Given the description of an element on the screen output the (x, y) to click on. 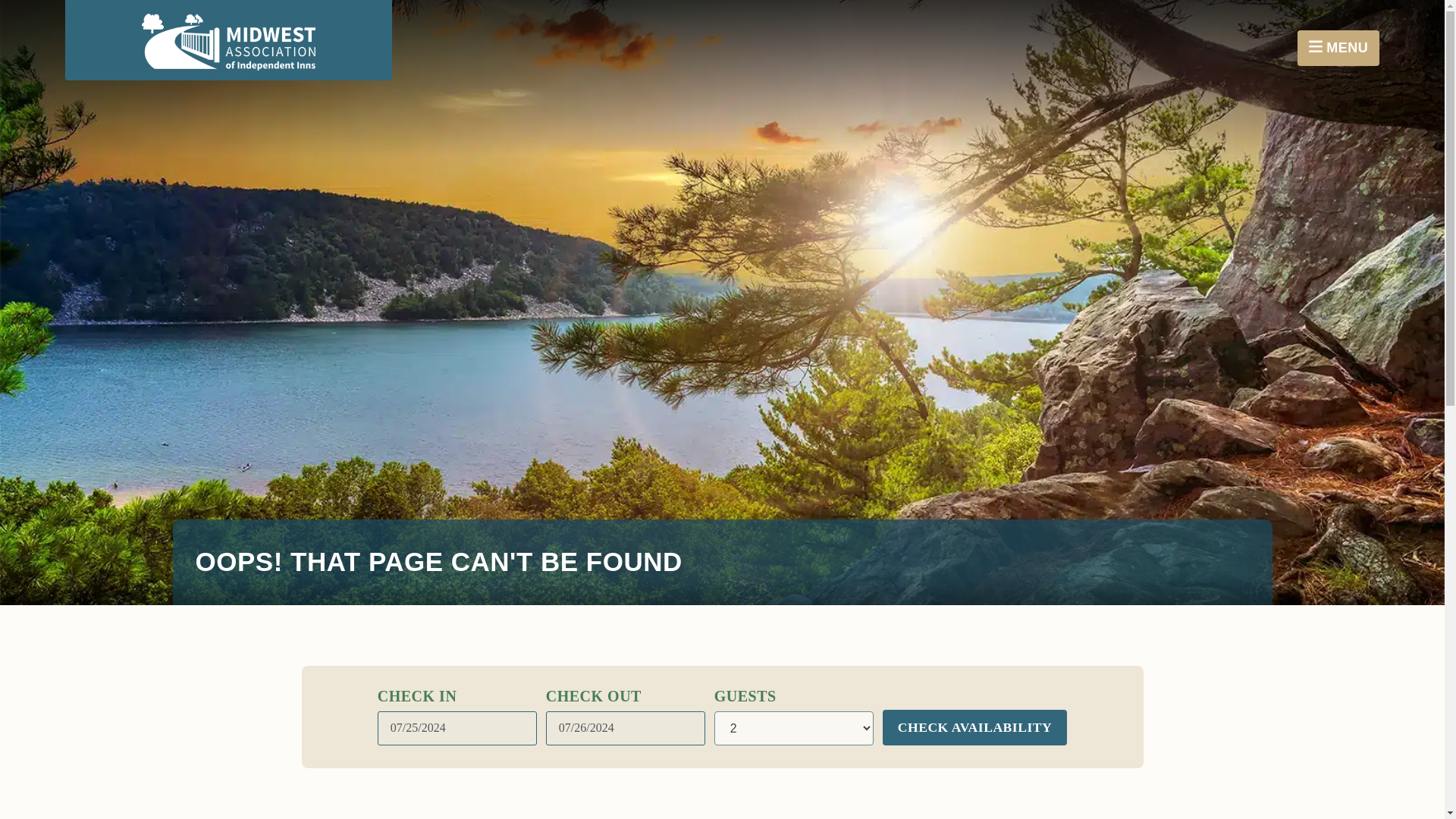
MENU (1337, 48)
